Given the description of an element on the screen output the (x, y) to click on. 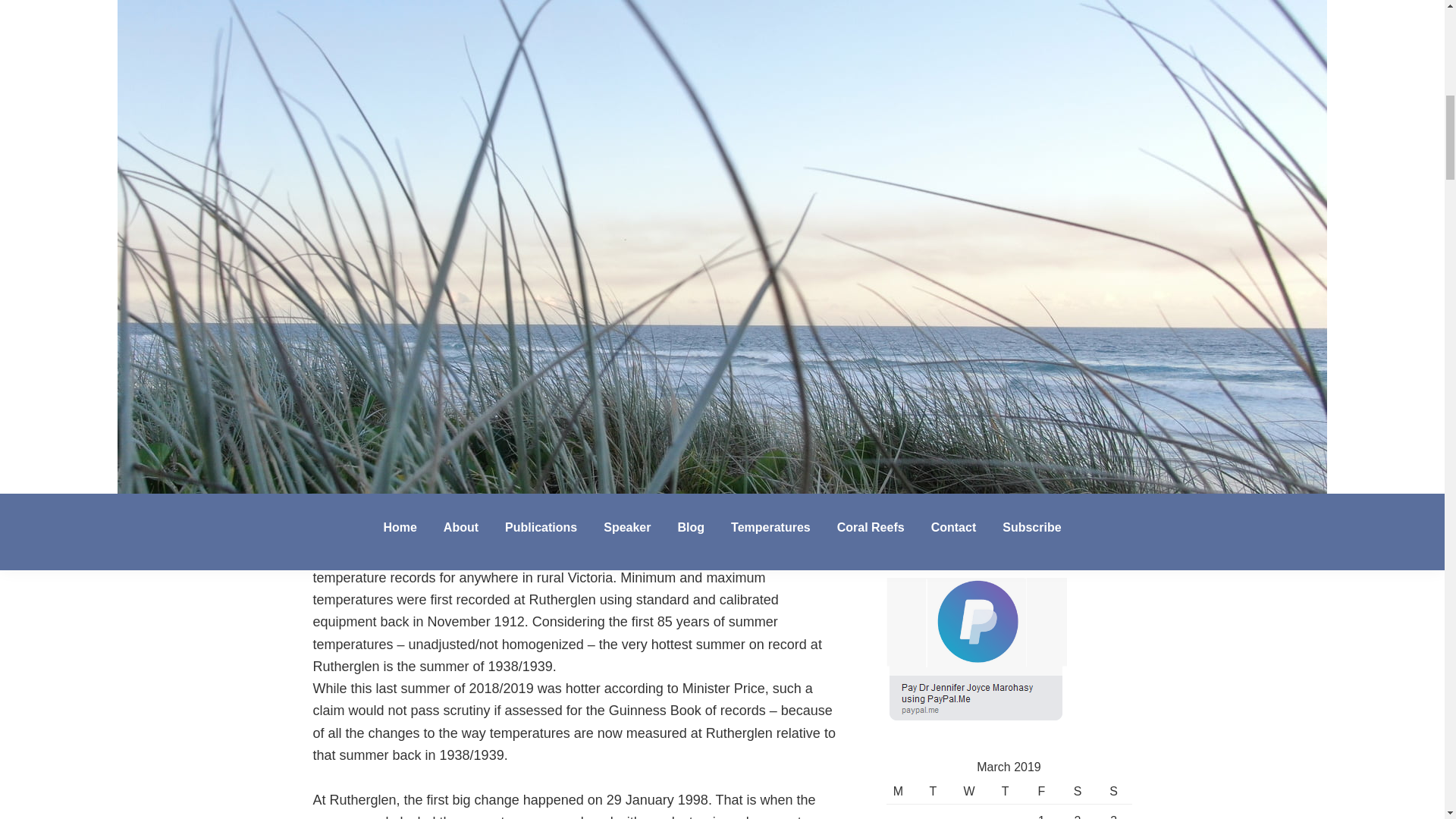
Wednesday (968, 791)
Monday (899, 791)
Murray Darling News (891, 317)
Great Barrier Reef News (891, 384)
Friday (1041, 791)
Tuesday (933, 791)
All News (891, 296)
Temperature Trends (891, 362)
Sunday (1114, 791)
Saturday (1077, 791)
Freedom of Speech News (891, 406)
Thursday (1005, 791)
Monthly Summary (891, 429)
Subscribe (937, 477)
